Given the description of an element on the screen output the (x, y) to click on. 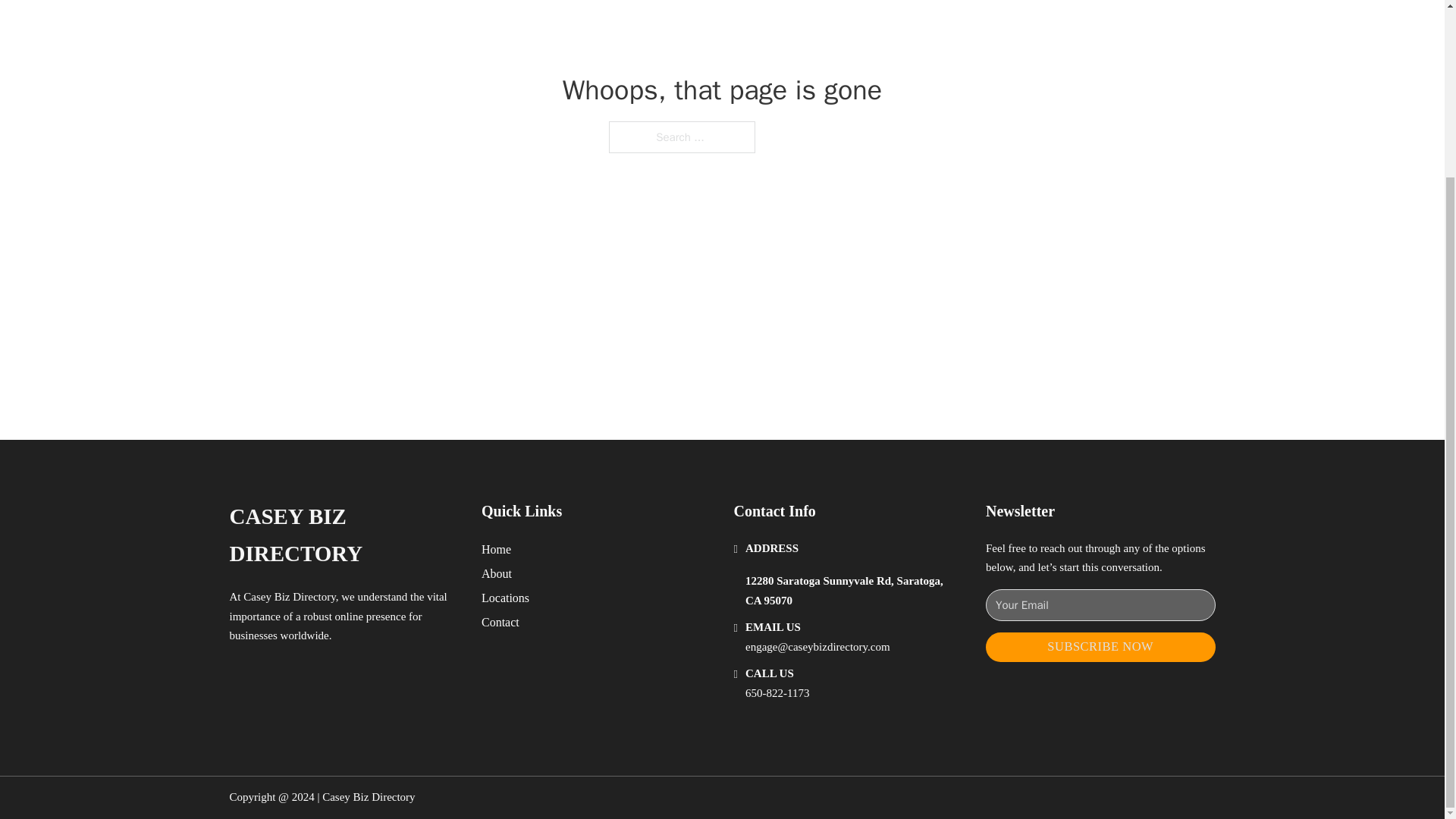
Locations (505, 598)
About (496, 573)
Contact (500, 621)
Home (496, 548)
650-822-1173 (777, 693)
CASEY BIZ DIRECTORY (343, 535)
SUBSCRIBE NOW (1100, 646)
